Given the description of an element on the screen output the (x, y) to click on. 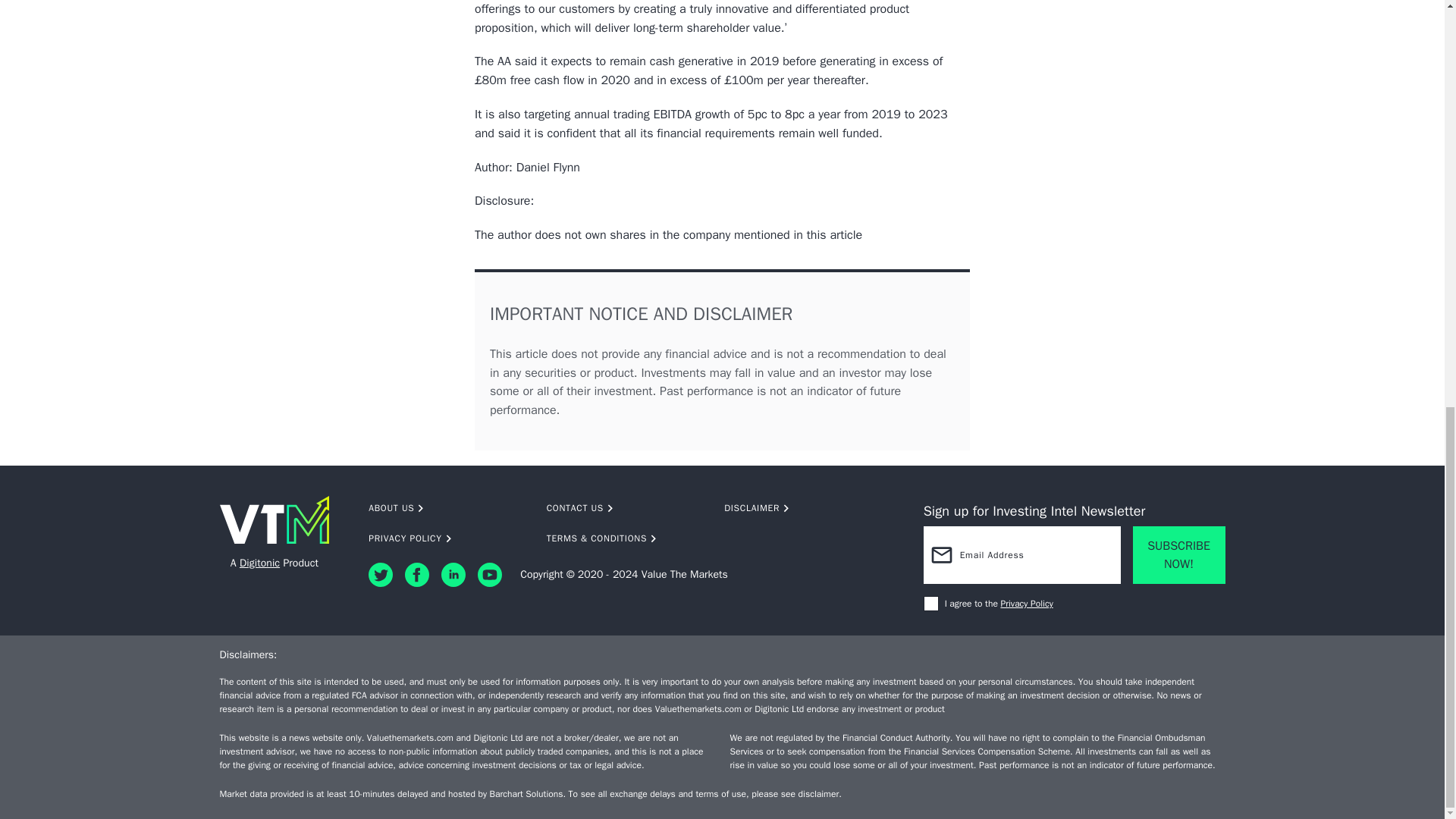
Yes (931, 603)
